Given the description of an element on the screen output the (x, y) to click on. 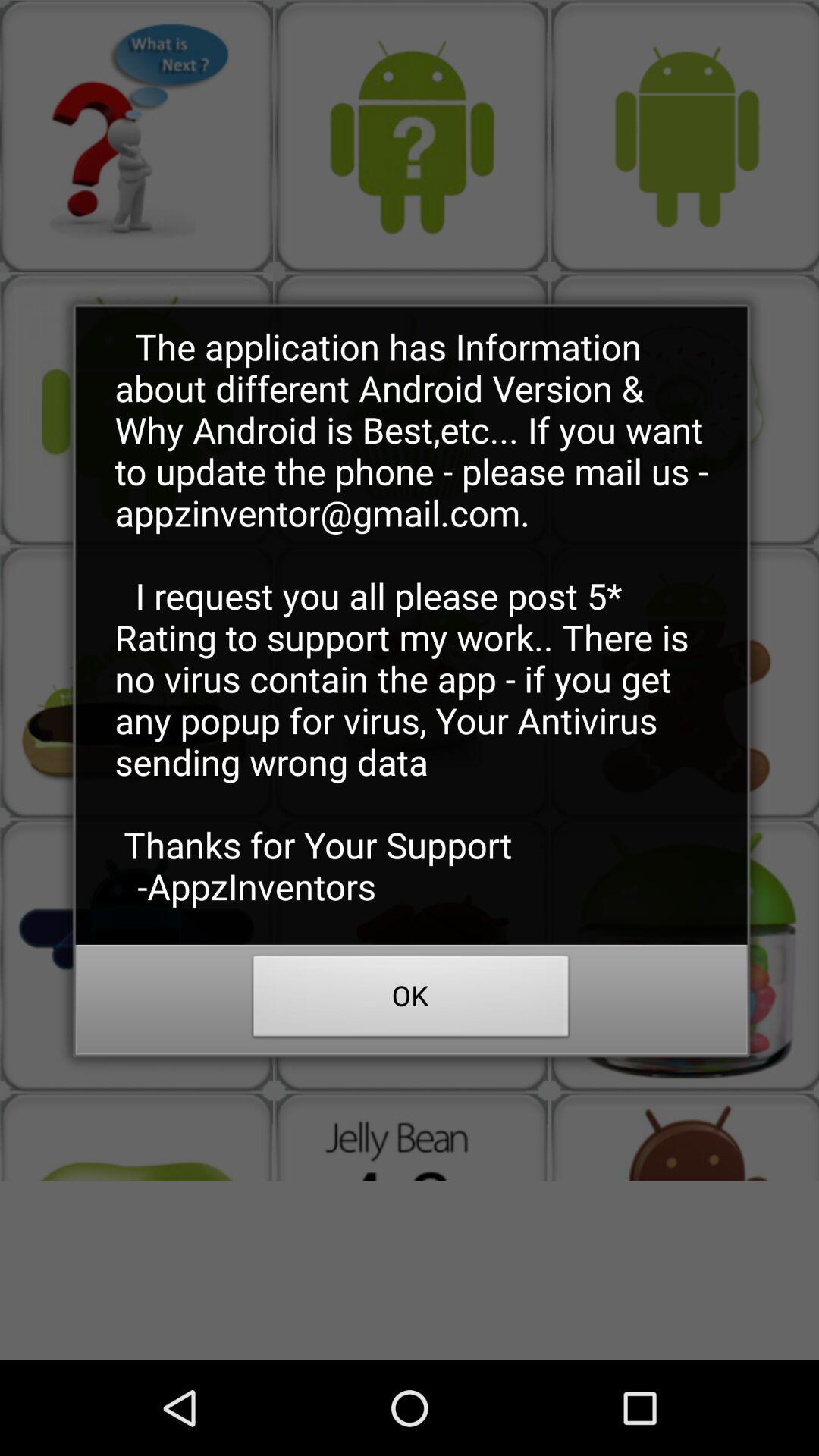
turn on ok button (410, 1000)
